Given the description of an element on the screen output the (x, y) to click on. 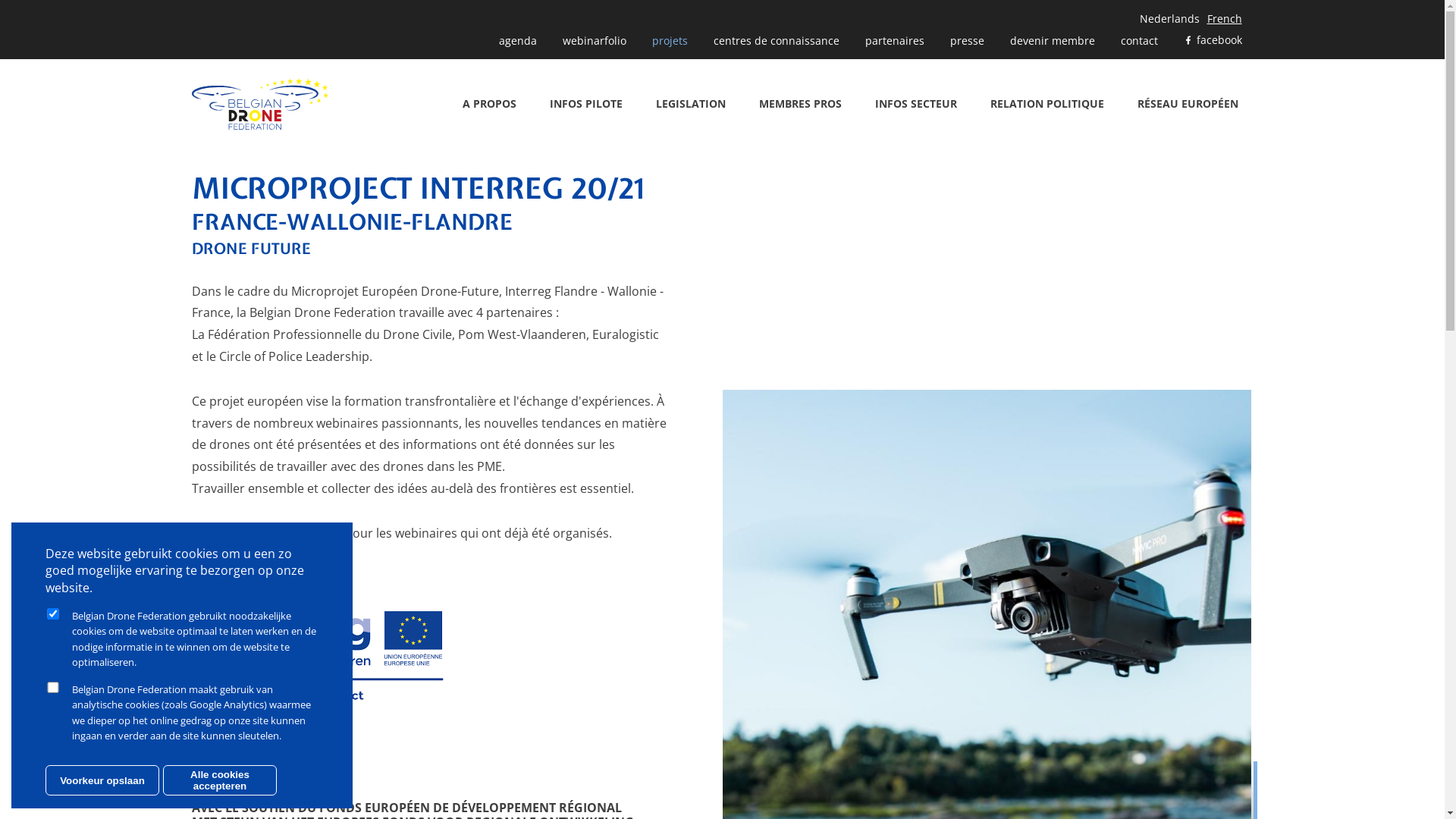
webinarfolio Element type: text (593, 40)
Nederlands Element type: text (1168, 18)
RELATION POLITIQUE Element type: text (1046, 105)
French Element type: text (1224, 18)
MEMBRES PROS Element type: text (800, 105)
partenaires Element type: text (894, 40)
LEGISLATION Element type: text (690, 105)
INFOS SECTEUR Element type: text (914, 105)
facebook Element type: text (1212, 41)
Alle cookies accepteren Element type: text (219, 780)
agenda Element type: text (516, 40)
Voorkeur opslaan Element type: text (102, 780)
Aller au contenu principal Element type: text (0, 0)
A PROPOS Element type: text (488, 105)
devenir membre Element type: text (1051, 40)
centres de connaissance Element type: text (776, 40)
la feuille de webinaire Element type: text (280, 532)
INFOS PILOTE Element type: text (585, 105)
projets Element type: text (669, 40)
contact Element type: text (1138, 40)
presse Element type: text (966, 40)
